Given the description of an element on the screen output the (x, y) to click on. 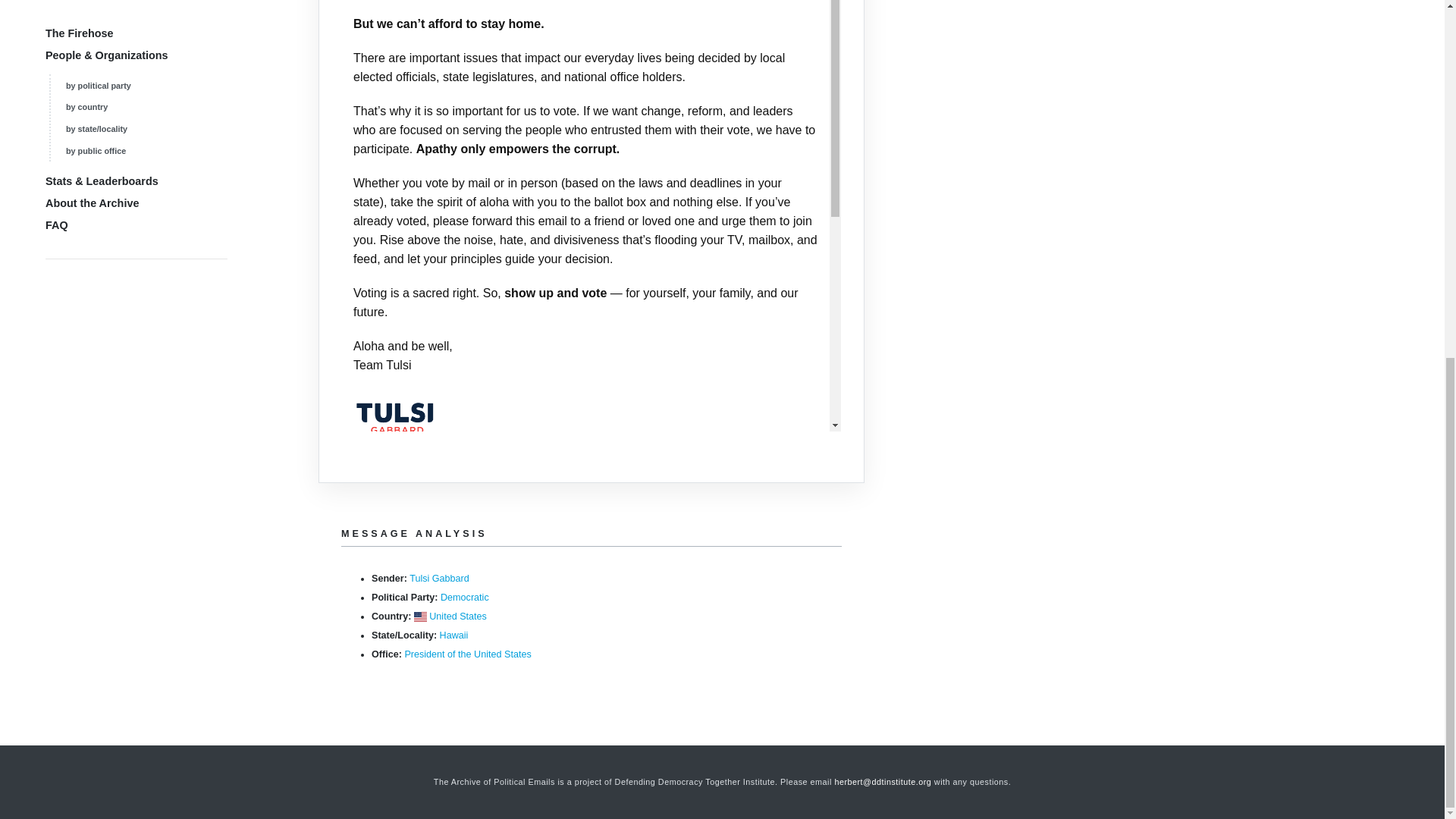
Democratic (465, 597)
Tulsi Gabbard (438, 578)
United States (457, 615)
Hawaii (453, 634)
President of the United States (467, 654)
